Given the description of an element on the screen output the (x, y) to click on. 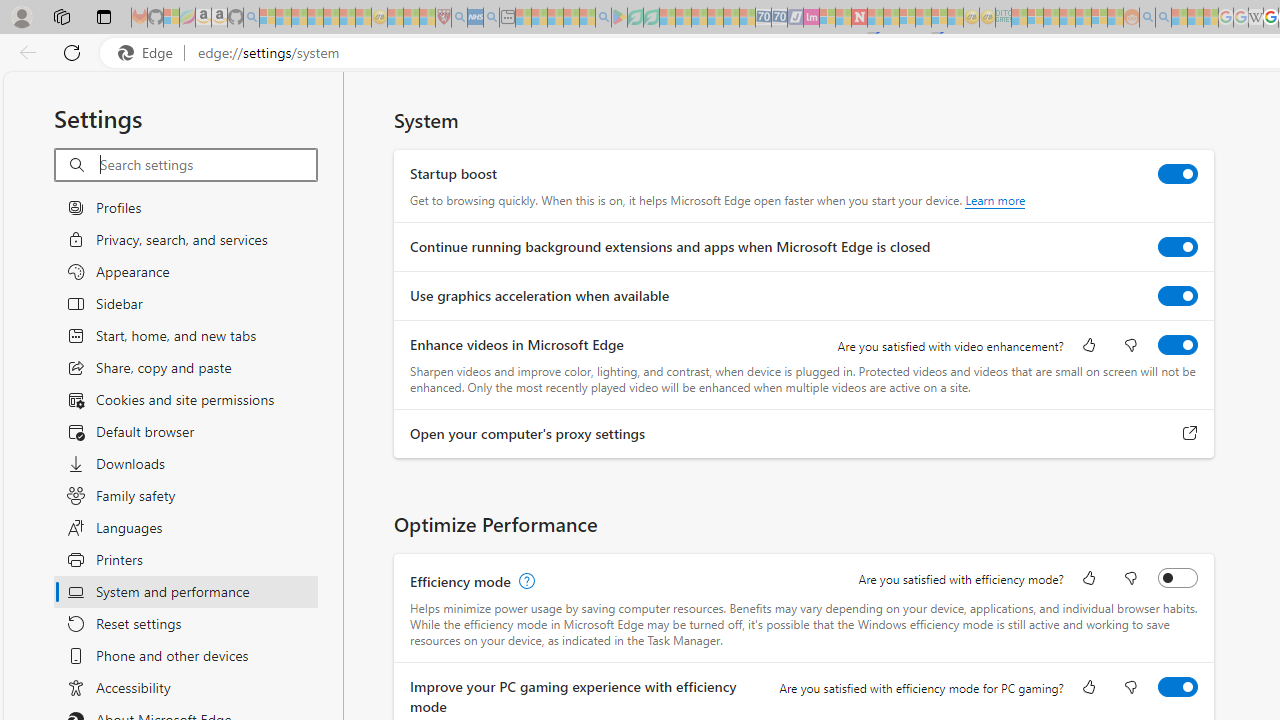
utah sues federal government - Search - Sleeping (491, 17)
Open your computer's proxy settings (1190, 434)
Terms of Use Agreement - Sleeping (635, 17)
Bluey: Let's Play! - Apps on Google Play - Sleeping (619, 17)
Pets - MSN - Sleeping (571, 17)
Efficiency mode, learn more (523, 582)
